Given the description of an element on the screen output the (x, y) to click on. 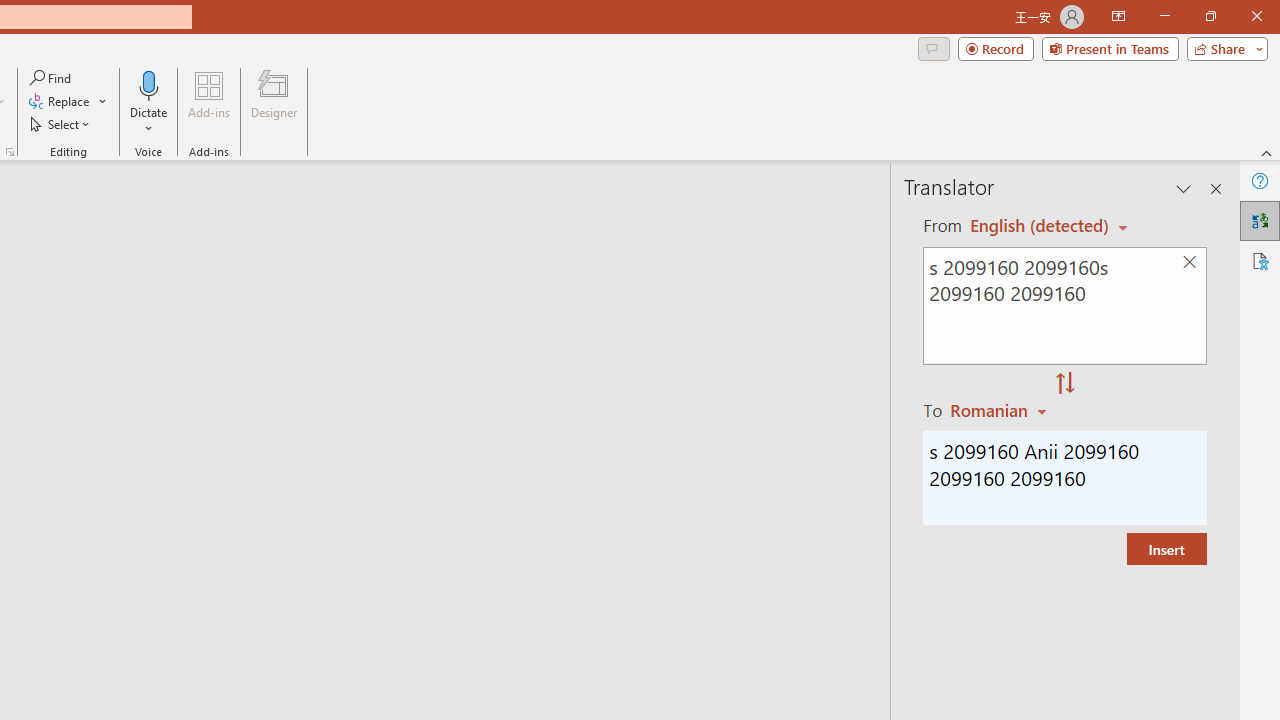
Find... (51, 78)
Swap "from" and "to" languages. (1065, 383)
Romanian (1001, 409)
